Given the description of an element on the screen output the (x, y) to click on. 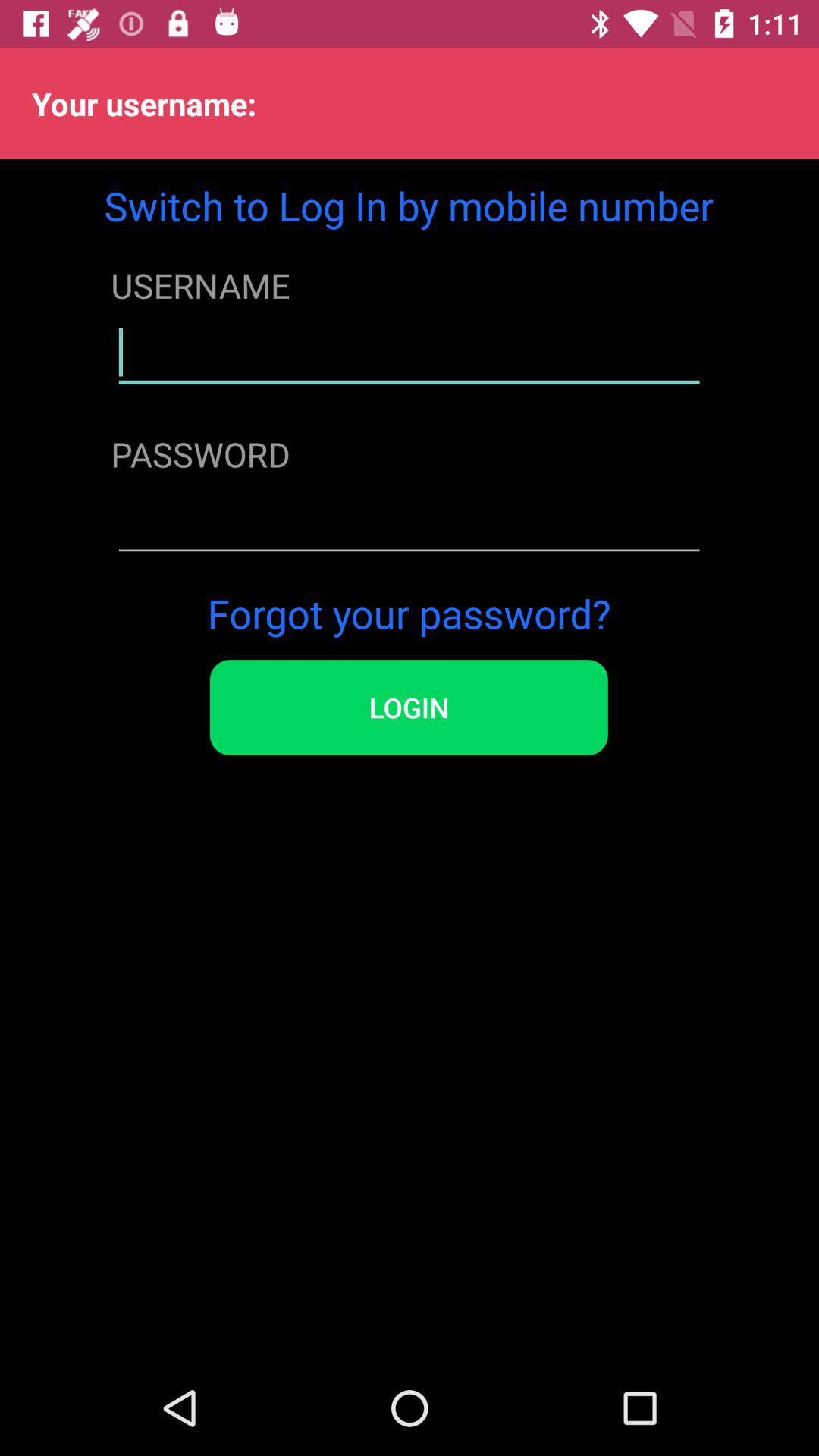
click the icon below password item (408, 522)
